Given the description of an element on the screen output the (x, y) to click on. 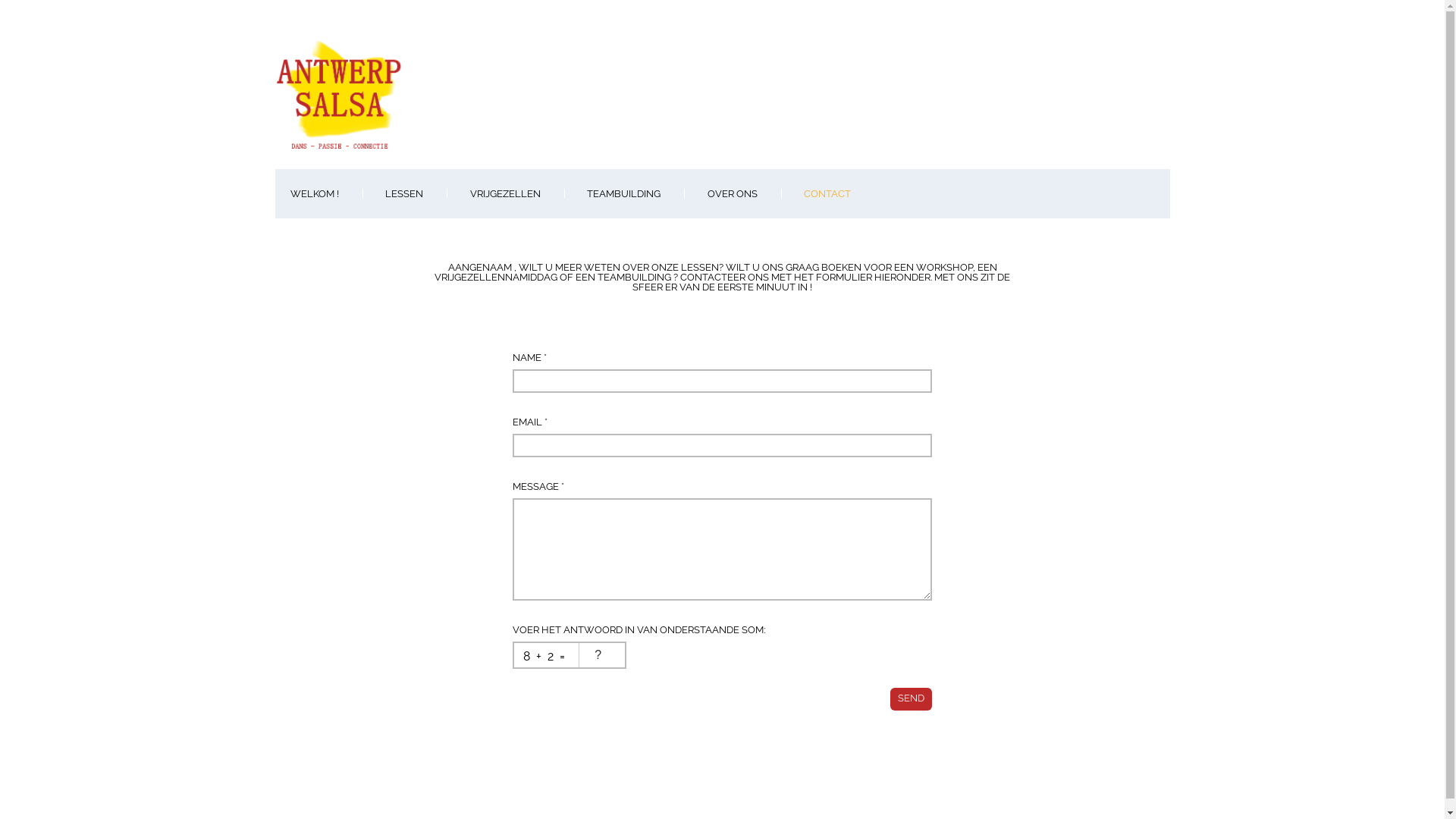
Send Element type: text (910, 698)
CONTACT Element type: text (827, 193)
TEAMBUILDING Element type: text (623, 193)
VRIJGEZELLEN Element type: text (505, 193)
OVER ONS Element type: text (731, 193)
LESSEN Element type: text (404, 193)
WELKOM ! Element type: text (313, 193)
